Given the description of an element on the screen output the (x, y) to click on. 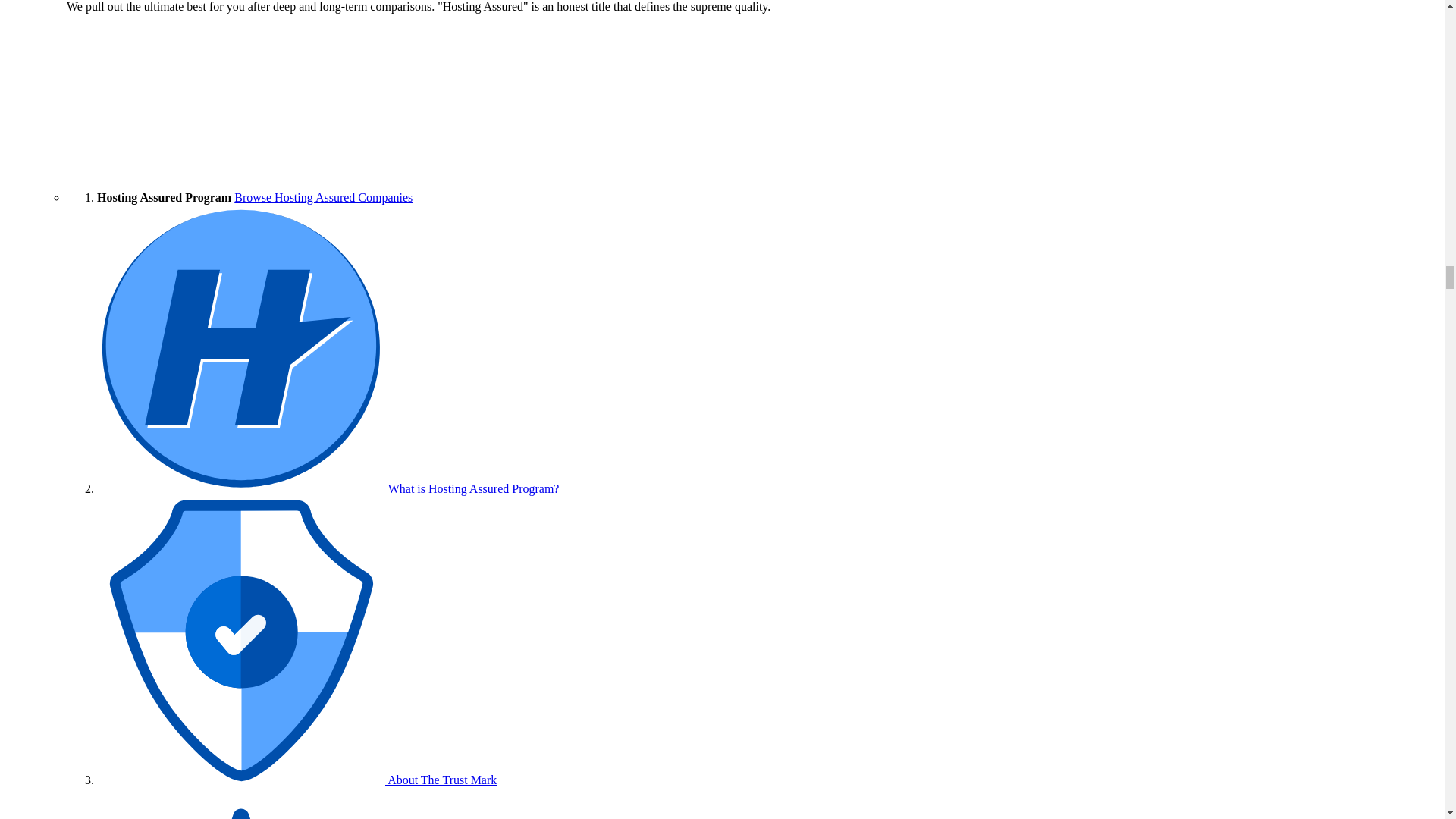
Filter All Hosting Assured Companies (323, 196)
Learn More About Our Hosting Assured Program (328, 488)
Browse Hosting Assured Companies (323, 196)
About The Trust Mark (296, 779)
What is Hosting Assured Program? (328, 488)
